Given the description of an element on the screen output the (x, y) to click on. 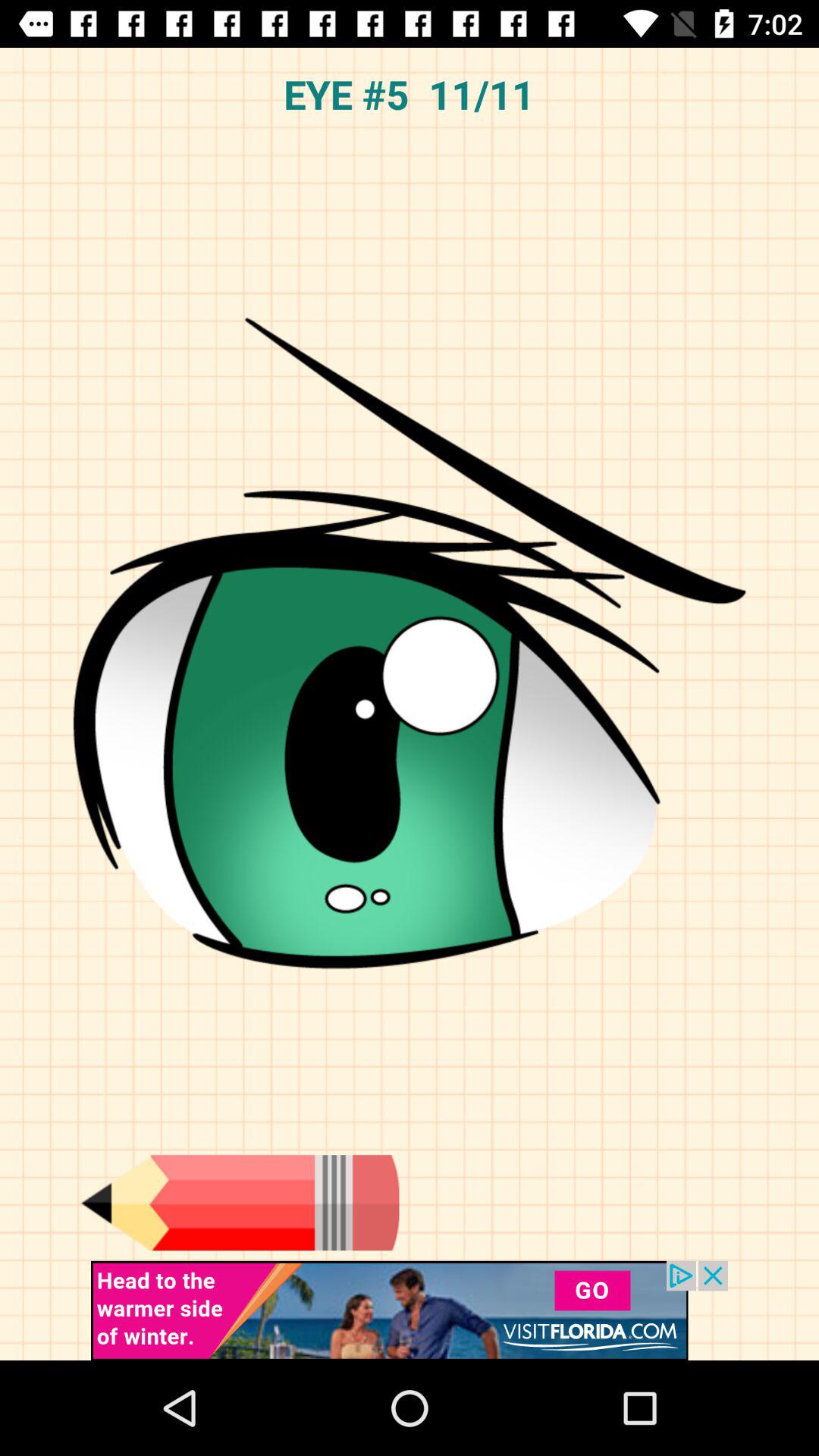
advertisement (409, 1310)
